Given the description of an element on the screen output the (x, y) to click on. 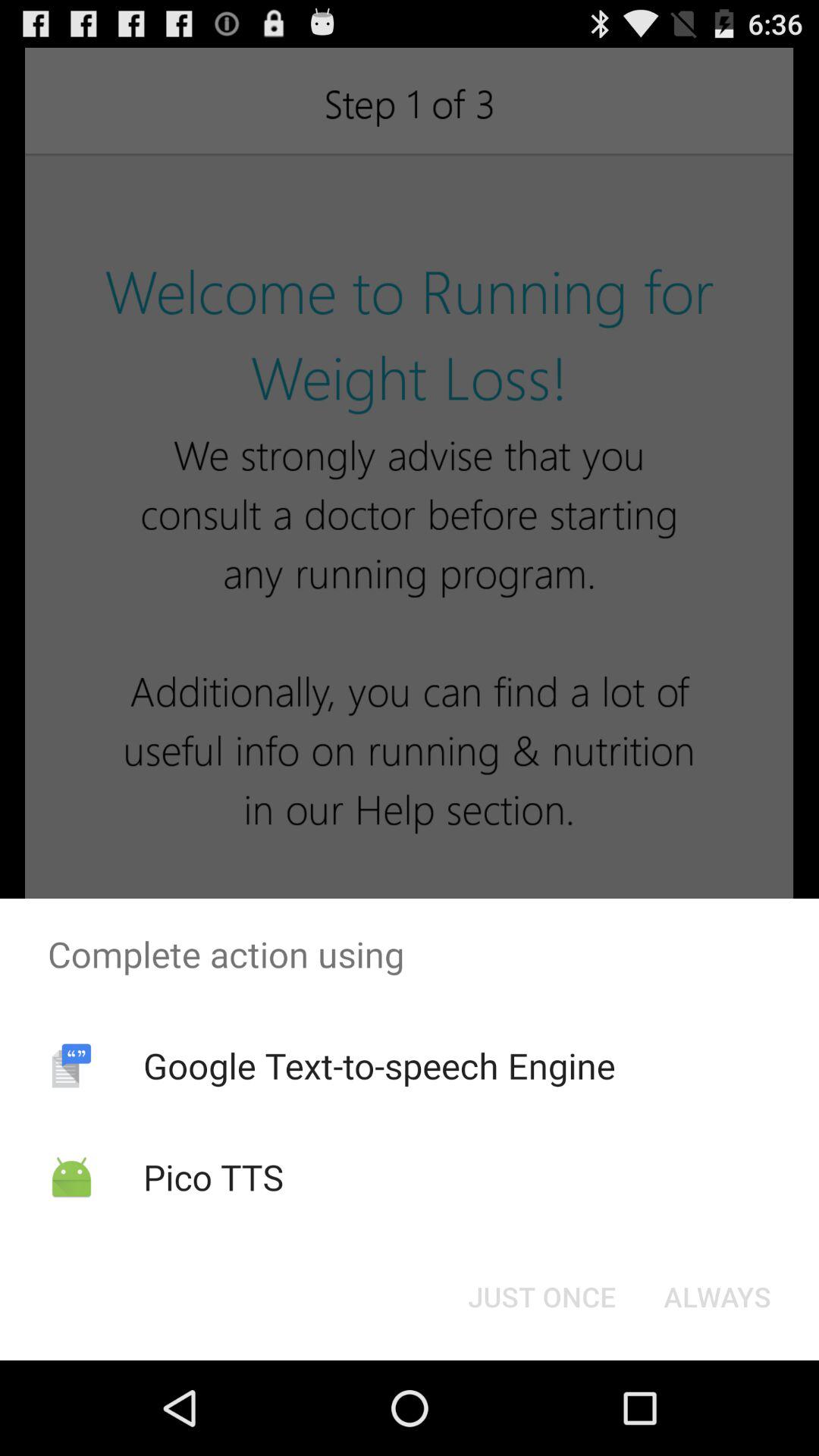
turn off the app below complete action using app (717, 1296)
